Given the description of an element on the screen output the (x, y) to click on. 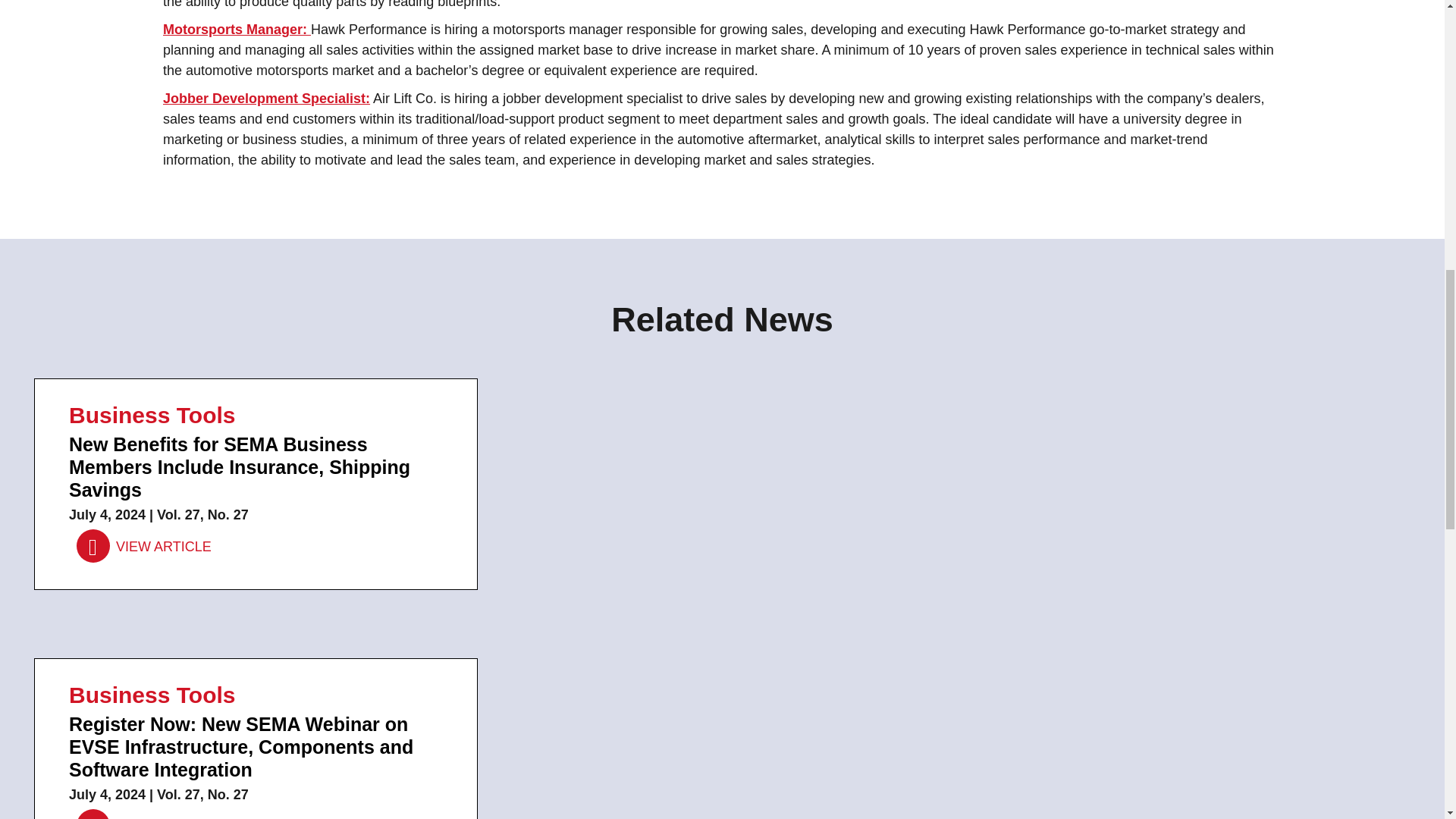
VIEW ARTICLE (143, 815)
Motorsports Manager: (237, 29)
VIEW ARTICLE (143, 546)
Jobber Development Specialist: (266, 98)
